Given the description of an element on the screen output the (x, y) to click on. 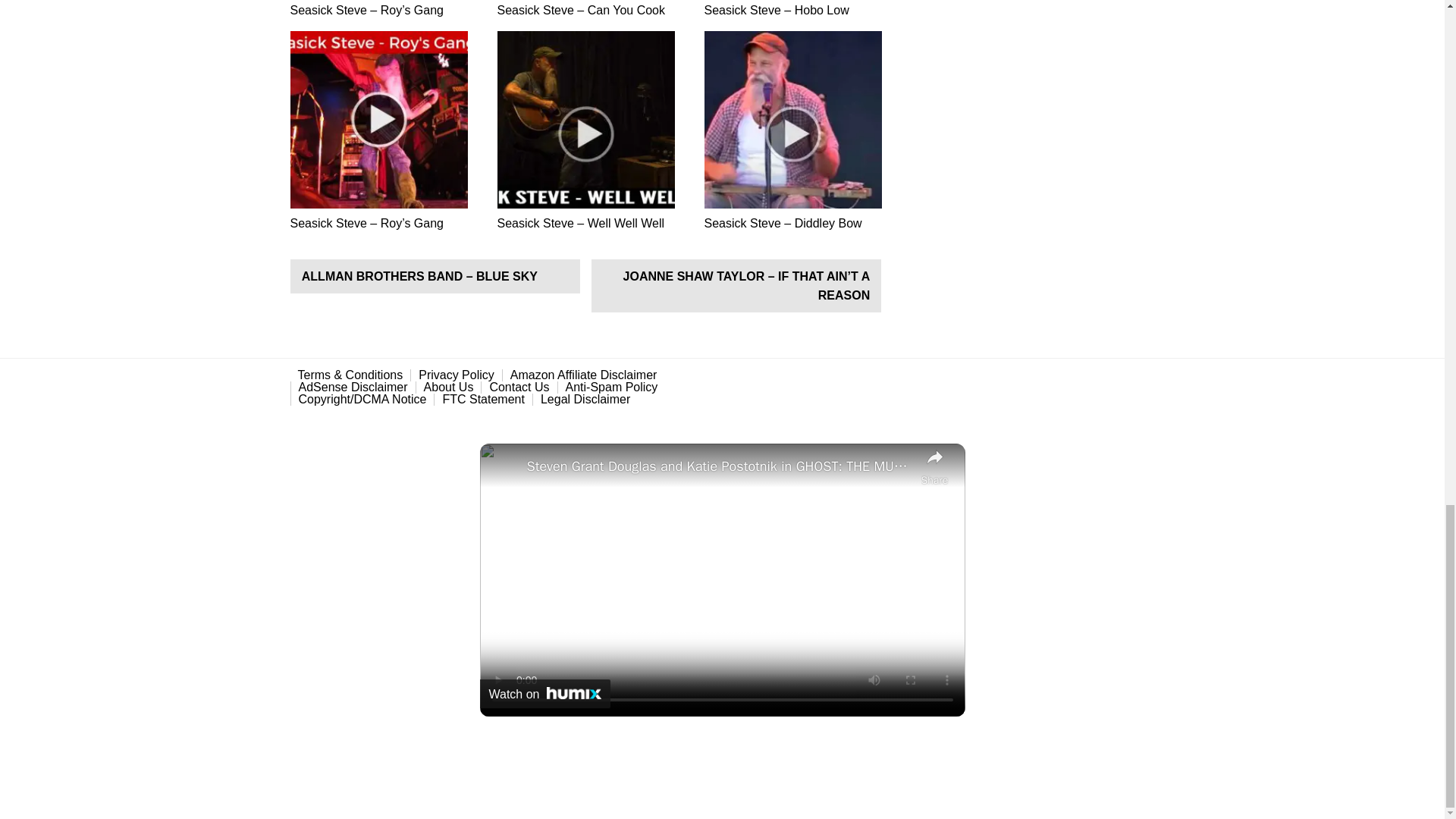
Amazon Affiliate Disclaimer (583, 375)
AdSense Disclaimer (352, 387)
Anti-Spam Policy (611, 387)
Privacy Policy (456, 375)
Contact Us (518, 387)
About Us (448, 387)
FTC Statement (482, 399)
Legal Disclaimer (584, 399)
